Given the description of an element on the screen output the (x, y) to click on. 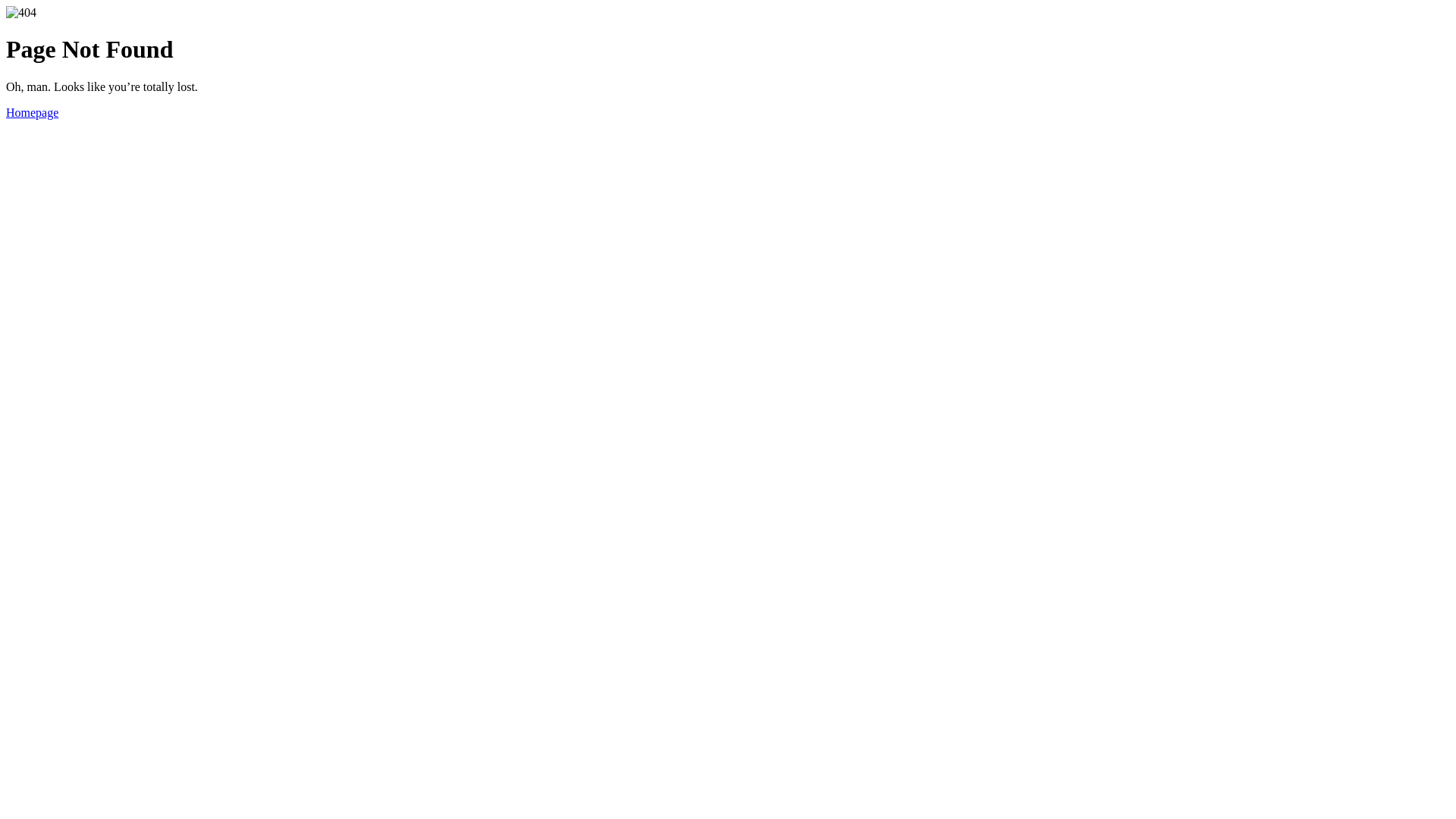
Homepage Element type: text (32, 112)
